Given the description of an element on the screen output the (x, y) to click on. 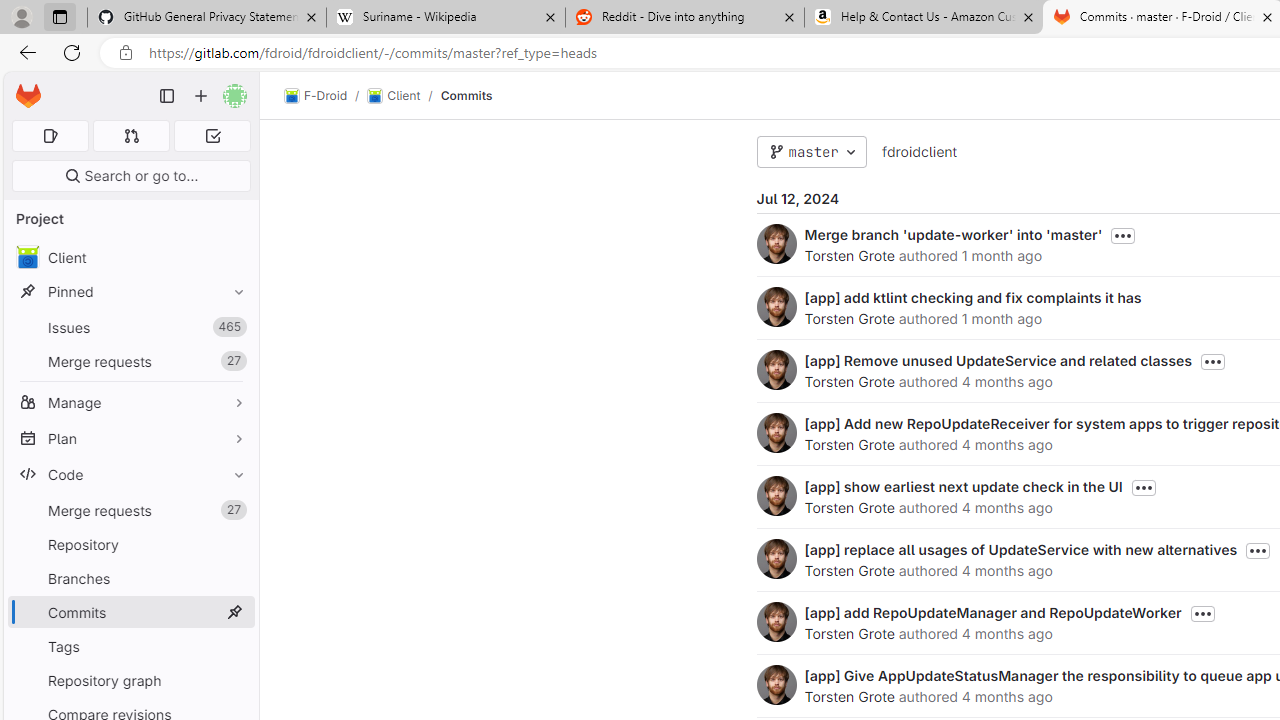
Client (394, 96)
avatar Client (130, 257)
Issues465 (130, 327)
Merge requests 0 (131, 136)
Unpin Merge requests (234, 510)
F-Droid (316, 96)
Homepage (27, 96)
Pinned (130, 291)
Manage (130, 402)
Torsten Grote's avatar (776, 684)
To-Do list 0 (212, 136)
[app] show earliest next update check in the UI (962, 486)
Repository graph (130, 679)
